Given the description of an element on the screen output the (x, y) to click on. 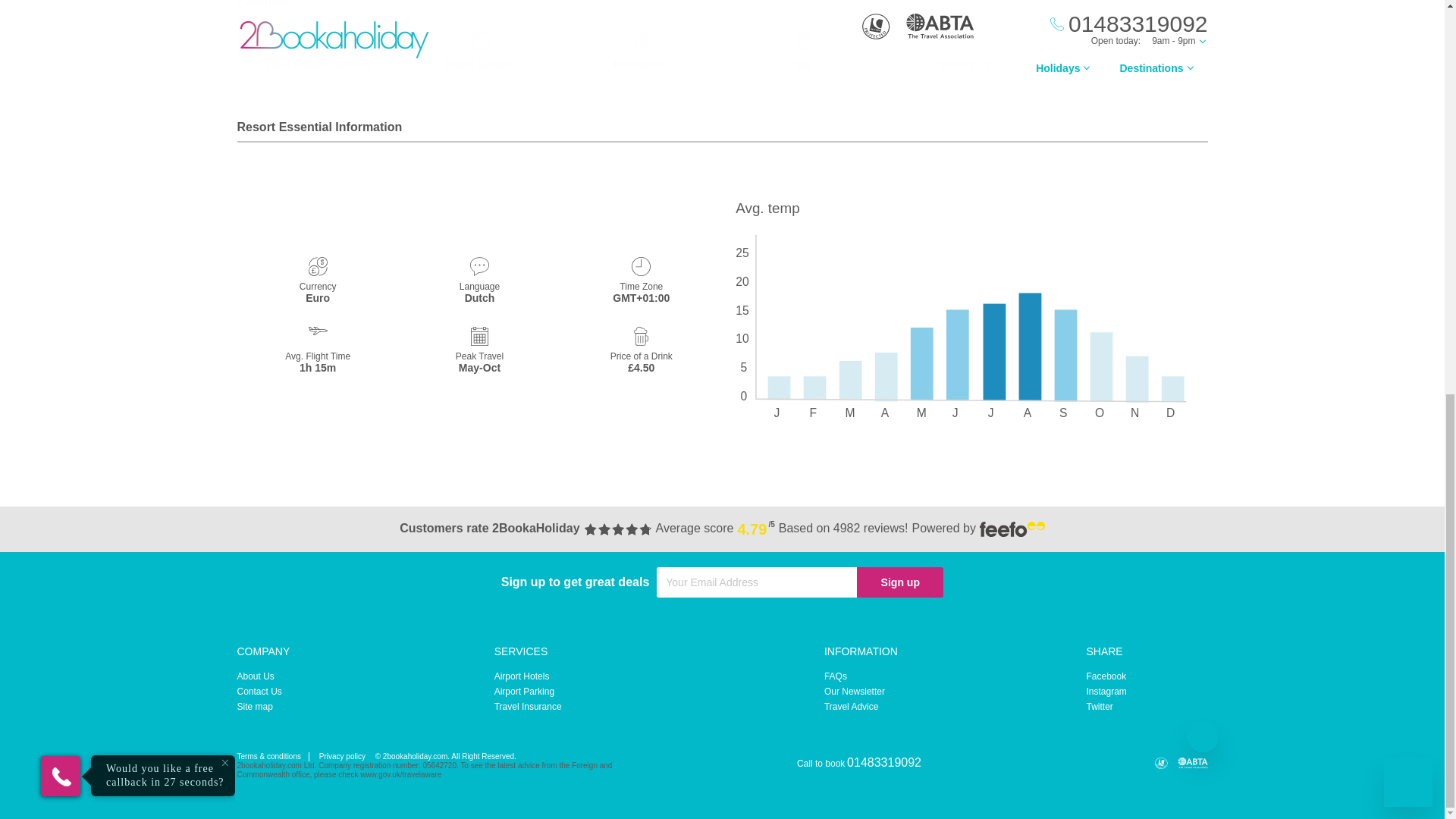
Button to launch messaging window (1408, 24)
Amsterdam Weather (964, 310)
